Given the description of an element on the screen output the (x, y) to click on. 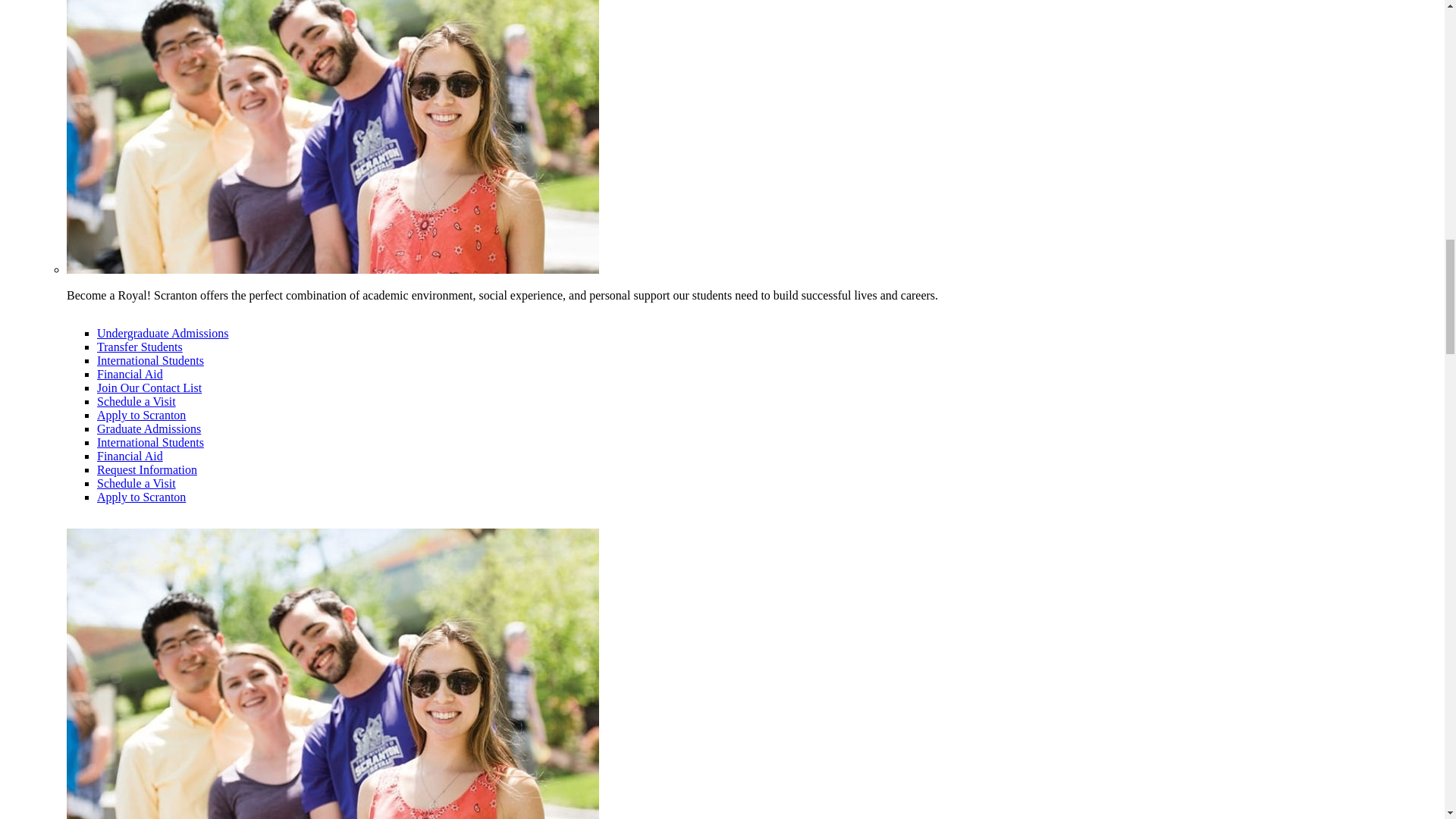
Undergraduate Admissions (162, 332)
